Given the description of an element on the screen output the (x, y) to click on. 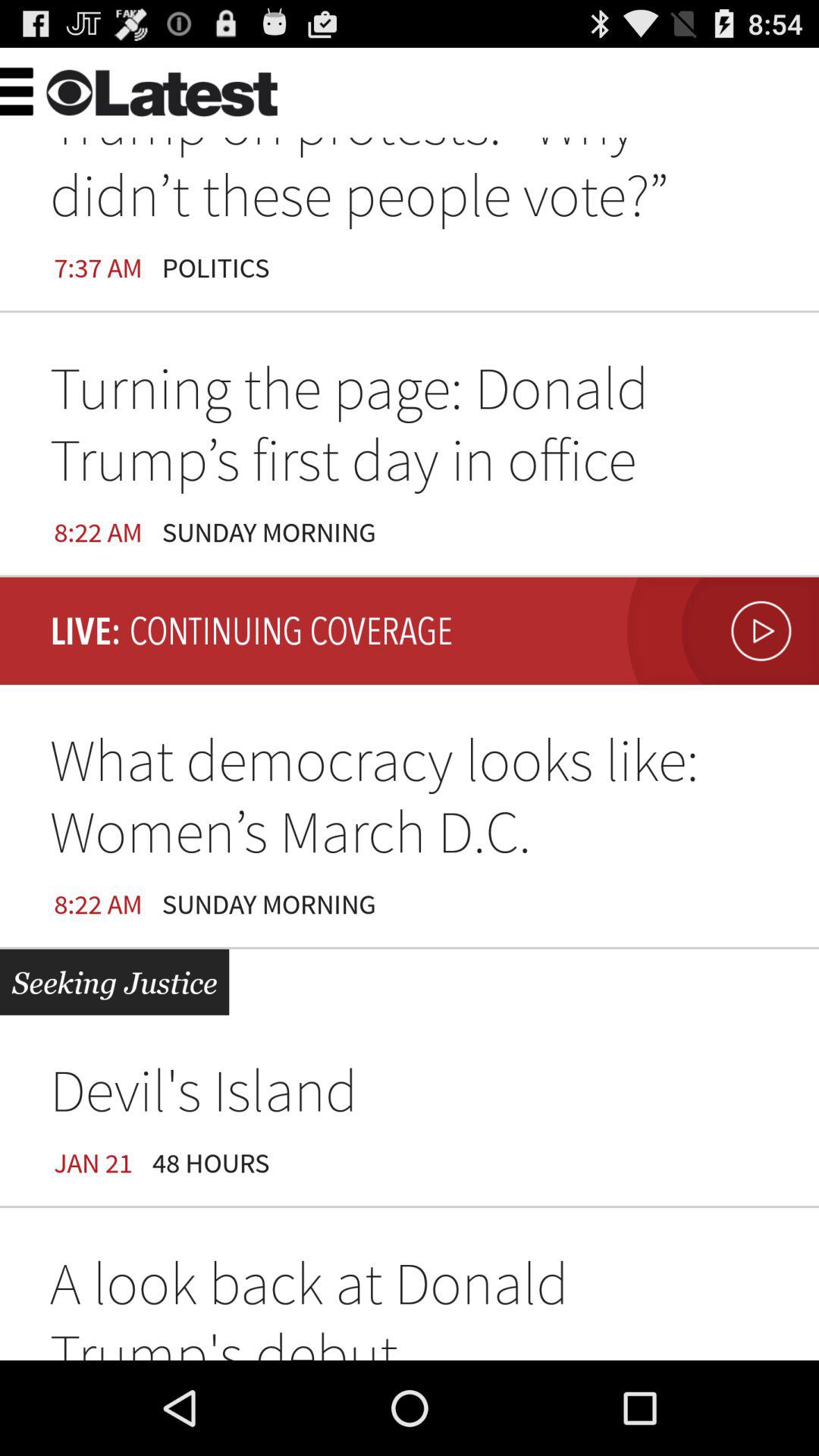
launch the icon above the what democracy looks (719, 630)
